Given the description of an element on the screen output the (x, y) to click on. 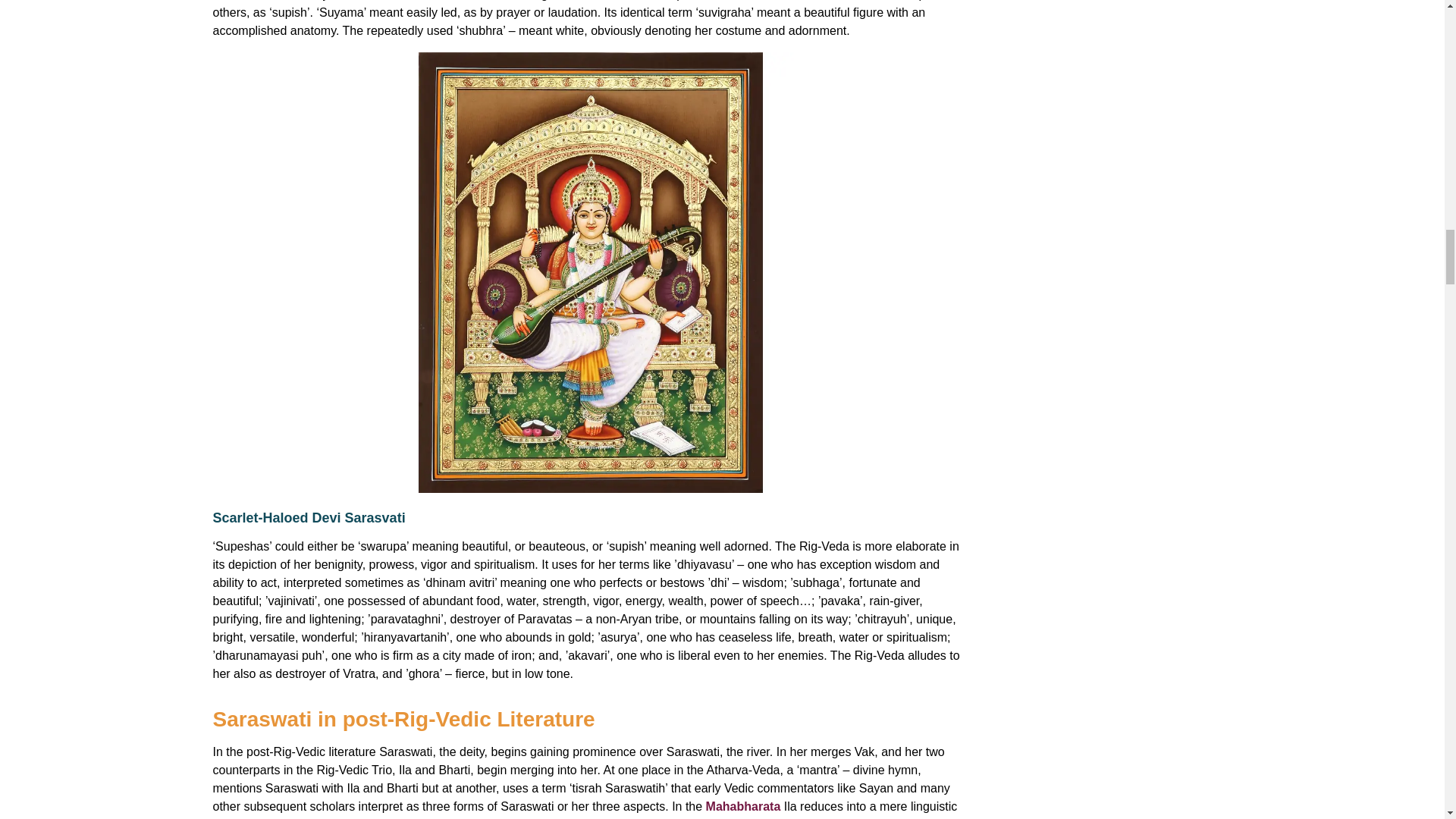
Scarlet-Haloed Devi Sarasvati (308, 516)
Mahabharata (745, 806)
